Given the description of an element on the screen output the (x, y) to click on. 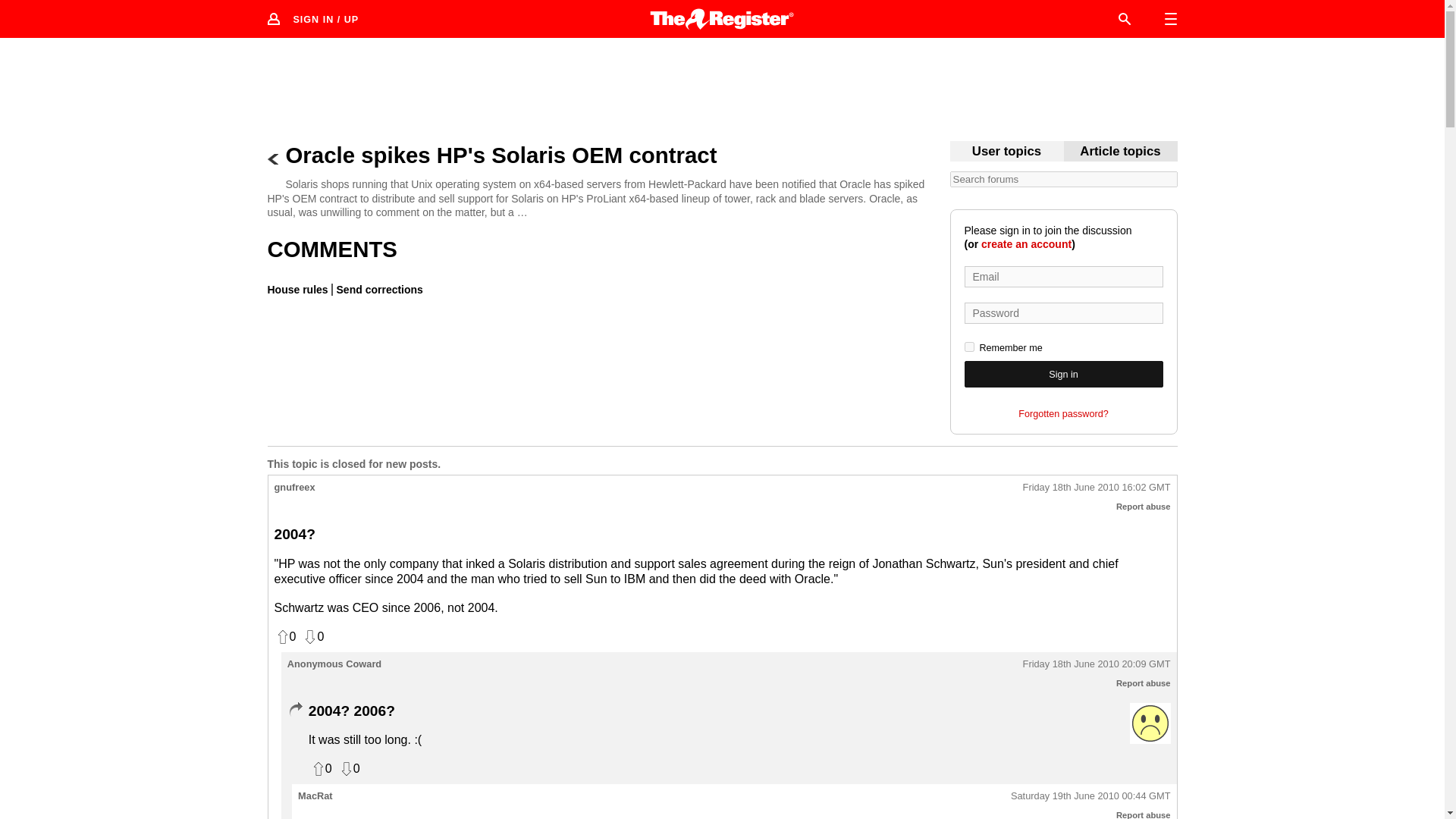
Permalink to this post (1096, 664)
yes (968, 347)
In reply to (294, 709)
Report abuse (1143, 814)
Dislike this post? Vote it down! (348, 768)
Report abuse (1143, 682)
Commentards, Commentards, Commentards (1006, 151)
Sign in (1063, 374)
Inappropriate post? Report it to our moderators (1143, 506)
I am very unhappy and wish to express my discontent. (1149, 722)
For corrections, please use link below article copy, kthxbye (1120, 151)
Like this post? Vote for it! (320, 768)
Forgotten password? (1063, 413)
Dislike this post? Vote it down! (312, 636)
Permalink to this post (1096, 487)
